Given the description of an element on the screen output the (x, y) to click on. 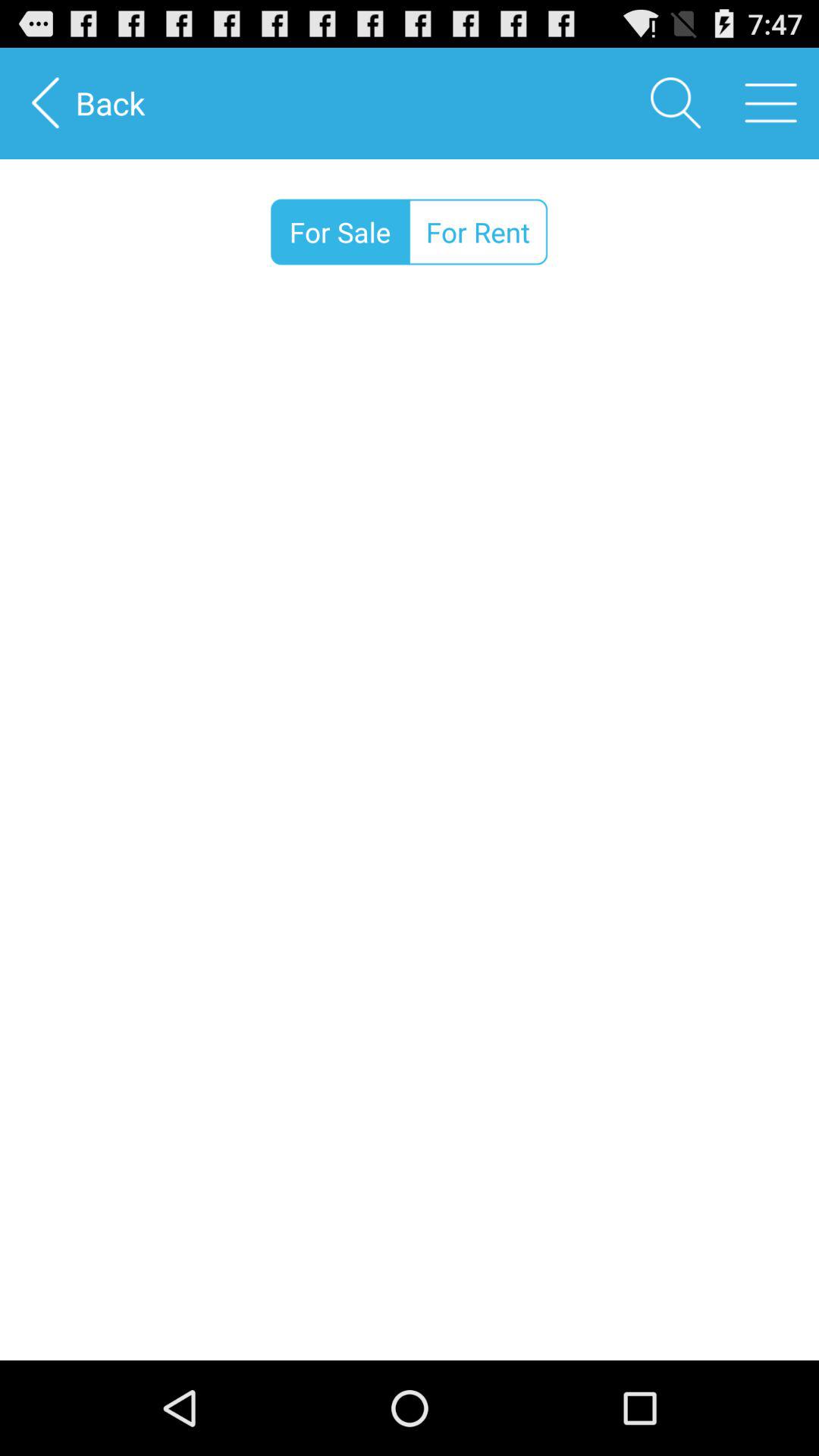
open the icon next to for rent icon (340, 232)
